Given the description of an element on the screen output the (x, y) to click on. 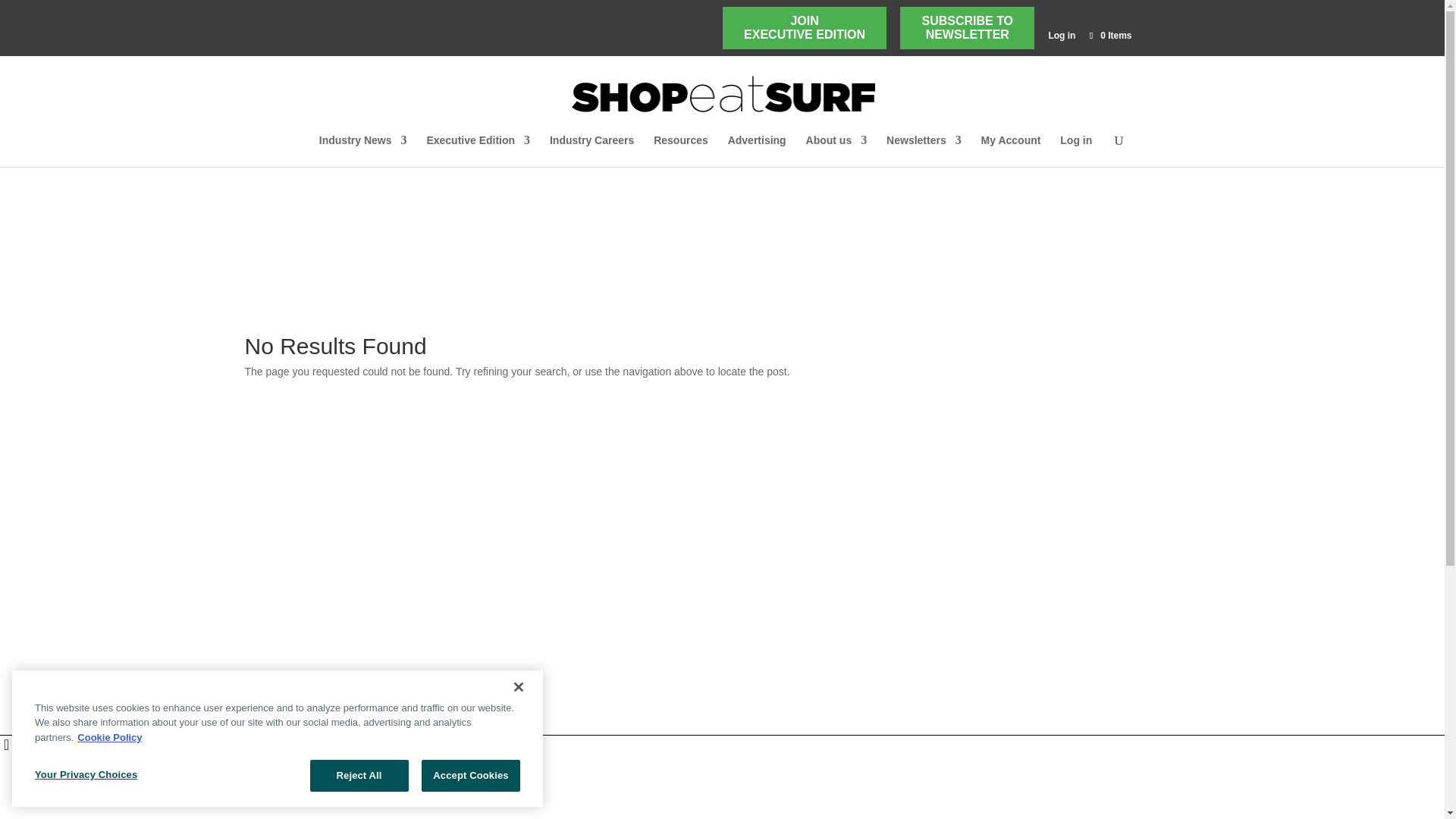
Log in (1061, 38)
0 Items (1108, 35)
Industry News (1108, 35)
Executive Edition (362, 151)
About us (477, 151)
SUBSCRIBE TO NEWSLETTER (967, 27)
JOIN EXECUTIVE EDITION (836, 151)
Advertising (967, 27)
Newsletters (804, 27)
Industry News (757, 151)
Log in (923, 151)
Industry Careers (362, 151)
